Given the description of an element on the screen output the (x, y) to click on. 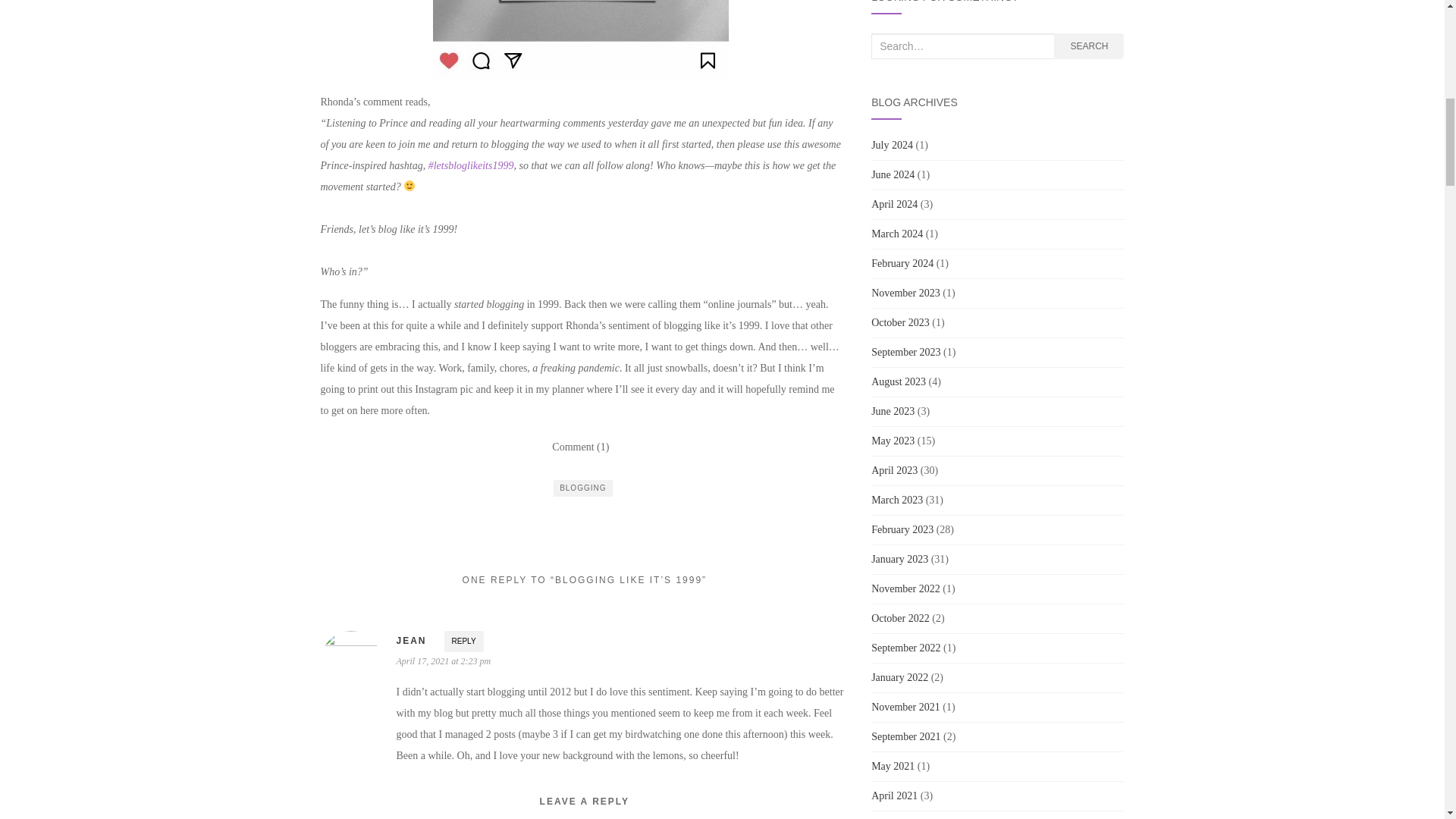
September 2023 (905, 351)
July 2024 (891, 144)
May 2023 (892, 440)
February 2024 (901, 263)
February 2023 (901, 529)
August 2023 (898, 381)
BLOGGING (582, 487)
October 2022 (900, 618)
November 2022 (905, 588)
June 2023 (892, 410)
April 2023 (893, 470)
REPLY (463, 640)
April 2024 (893, 204)
Search for: (962, 45)
JEAN (411, 640)
